Given the description of an element on the screen output the (x, y) to click on. 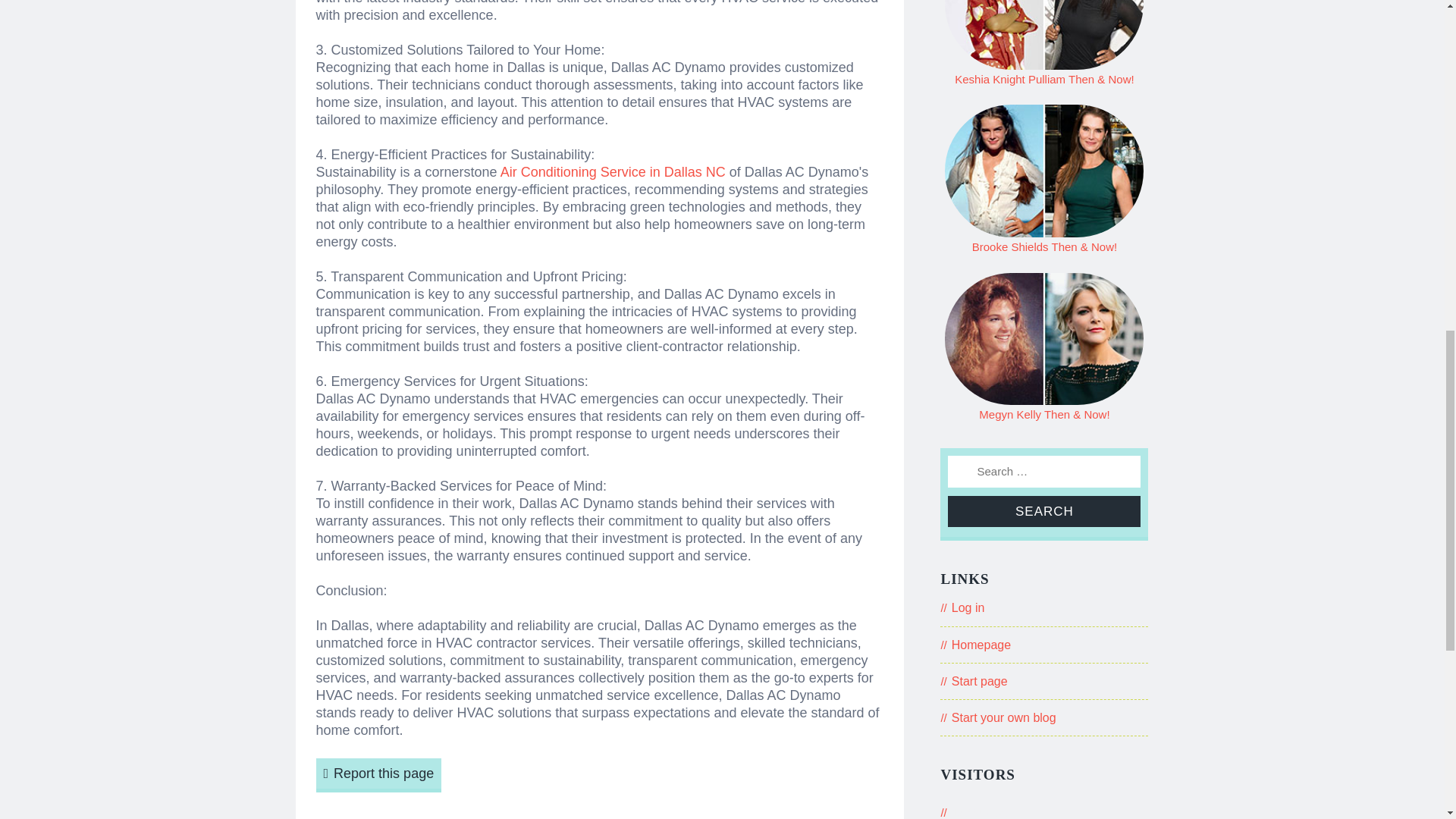
Report this page (378, 775)
Start your own blog (1004, 717)
Search (1043, 511)
Air Conditioning Service in Dallas NC (612, 171)
Homepage (981, 644)
Search (1043, 511)
Log in (968, 607)
Search (1043, 511)
Start page (979, 680)
